Given the description of an element on the screen output the (x, y) to click on. 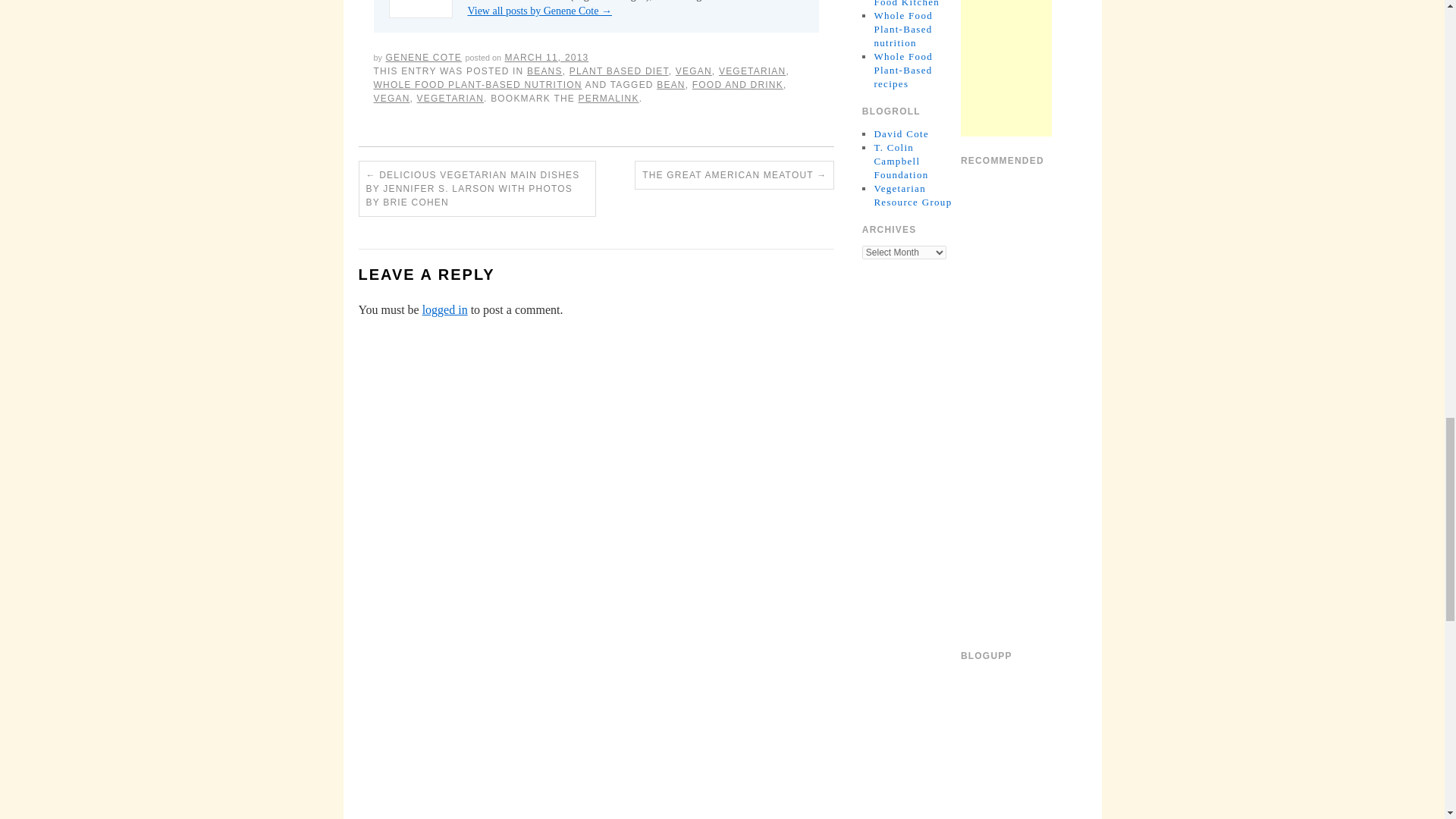
GENENE COTE (423, 57)
View all posts by Genene Cote (423, 57)
MARCH 11, 2013 (547, 57)
10:05 am (547, 57)
BEANS (544, 71)
Permalink to Pressure Cooker Beans with Flavor! (608, 98)
PLANT BASED DIET (618, 71)
